Given the description of an element on the screen output the (x, y) to click on. 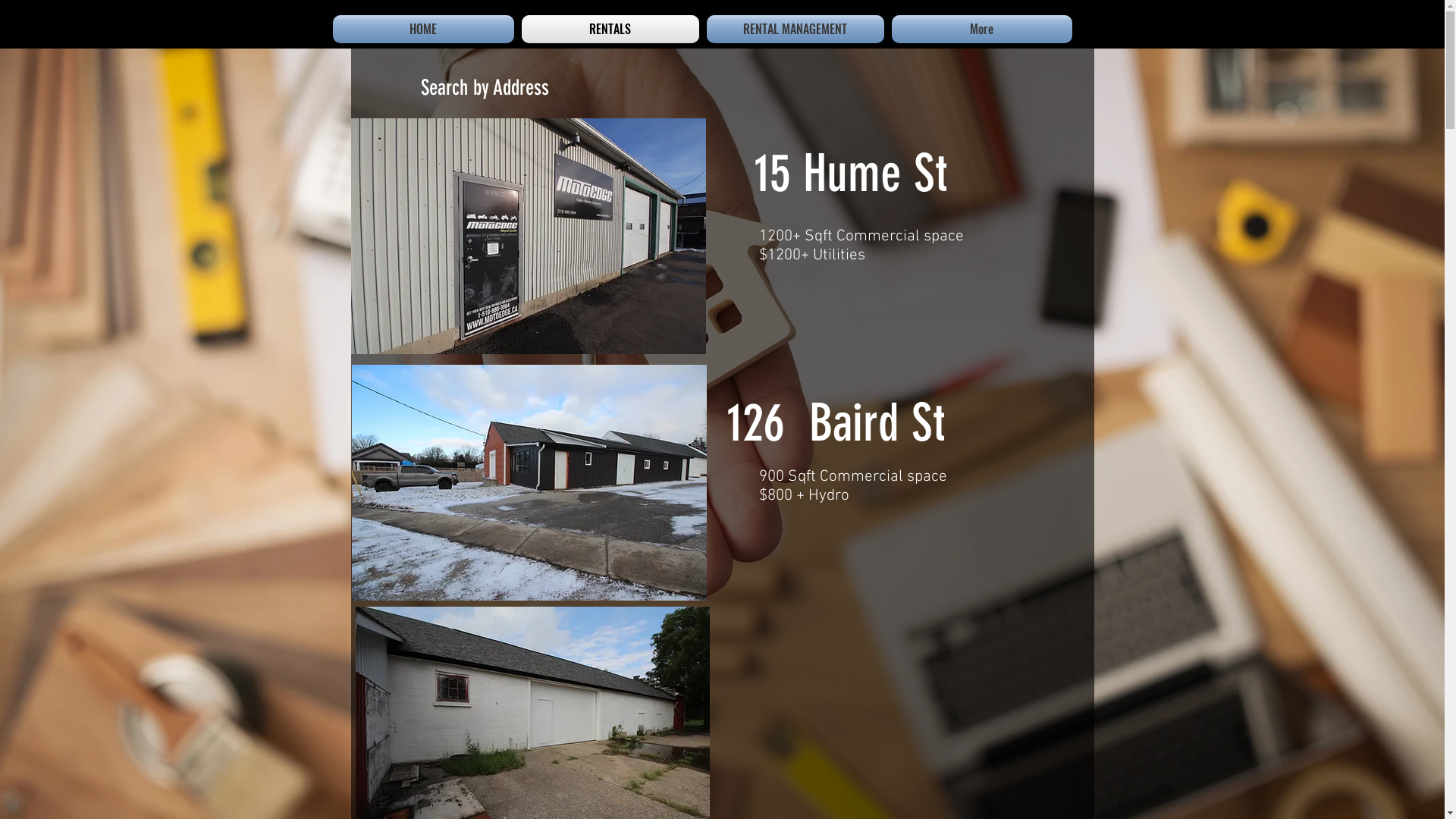
RENTALS Element type: text (609, 29)
RENTAL MANAGEMENT Element type: text (794, 29)
HOME Element type: text (424, 29)
IMG_4717.jpg Element type: hover (528, 482)
IMG_4695.jpg Element type: hover (527, 236)
